Given the description of an element on the screen output the (x, y) to click on. 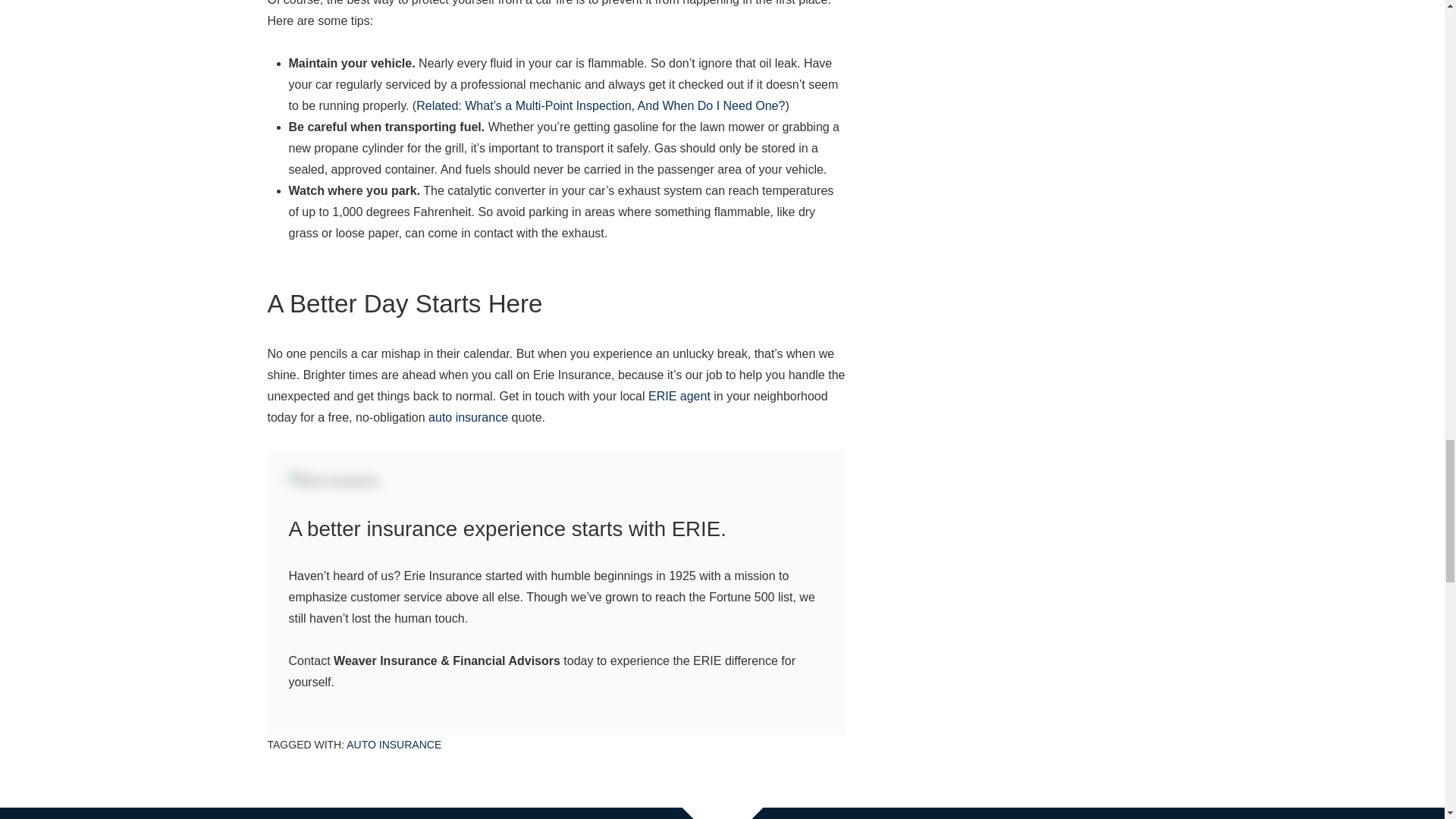
Auto Insurance (393, 744)
